Given the description of an element on the screen output the (x, y) to click on. 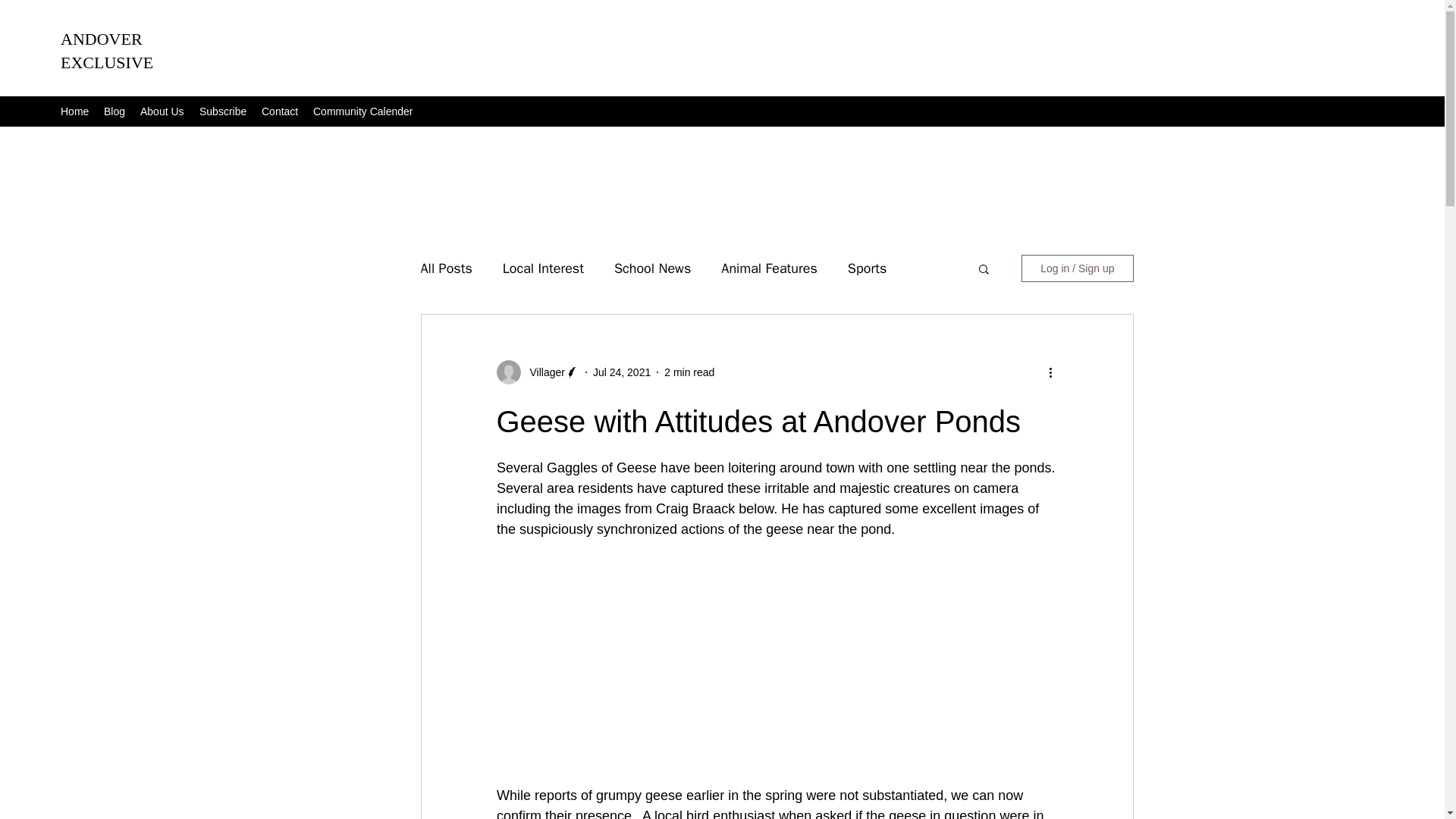
Community Calender (362, 110)
School News (652, 268)
Jul 24, 2021 (621, 372)
Animal Features (768, 268)
Subscribe (222, 110)
ANDOVER EXCLUSIVE (106, 50)
Contact (279, 110)
Blog (114, 110)
Villager (541, 372)
Local Interest (542, 268)
